Given the description of an element on the screen output the (x, y) to click on. 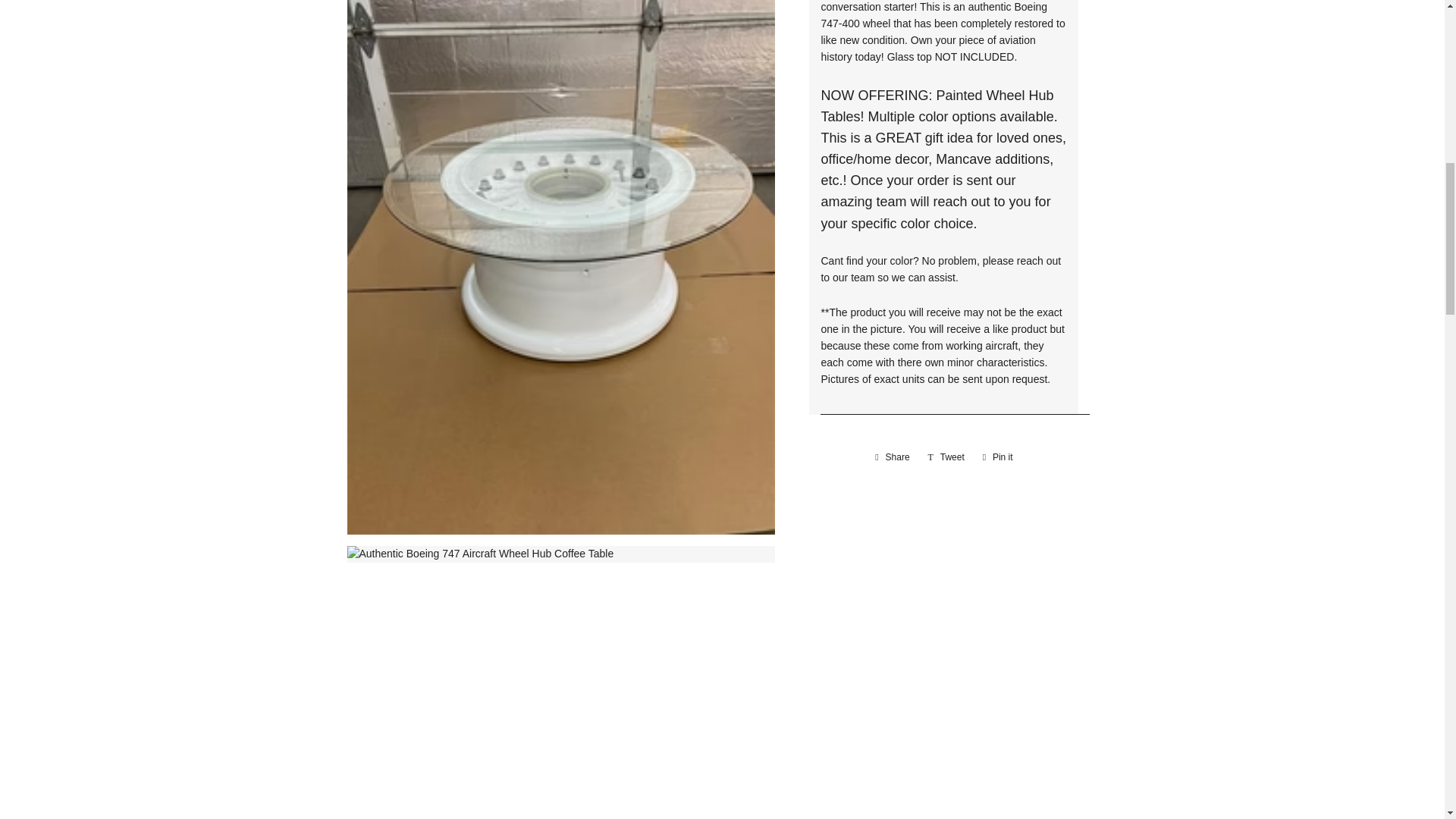
Tweet on Twitter (946, 457)
Pin on Pinterest (997, 457)
Share on Facebook (892, 457)
